Given the description of an element on the screen output the (x, y) to click on. 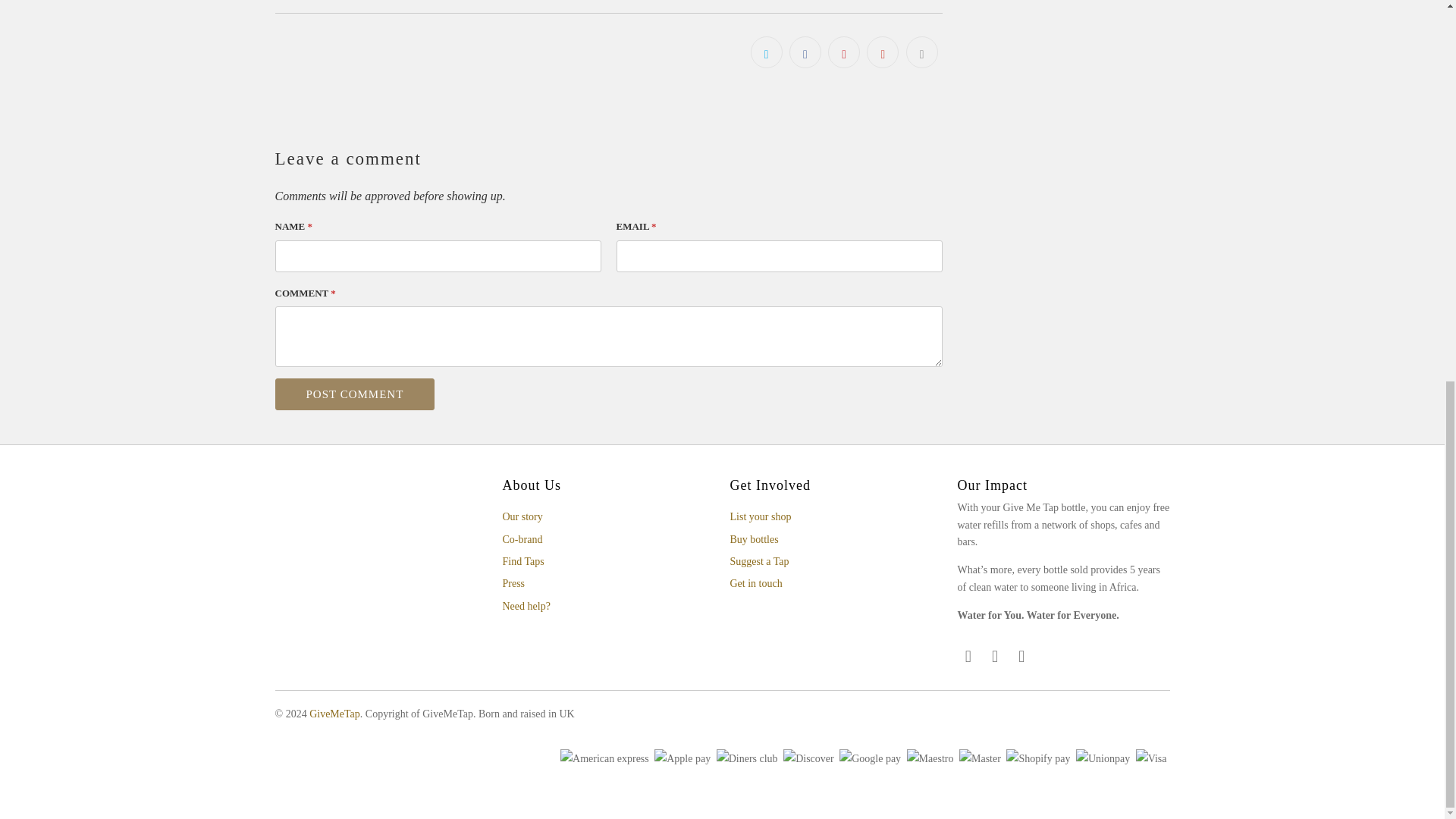
Post comment (354, 394)
Share this on Pinterest (844, 51)
Email this to a friend (921, 51)
Share this on Facebook (805, 51)
Share this on Twitter (767, 51)
GiveMeTap on Twitter (967, 656)
GiveMeTap on Instagram (1021, 656)
GiveMeTap on Facebook (995, 656)
